Given the description of an element on the screen output the (x, y) to click on. 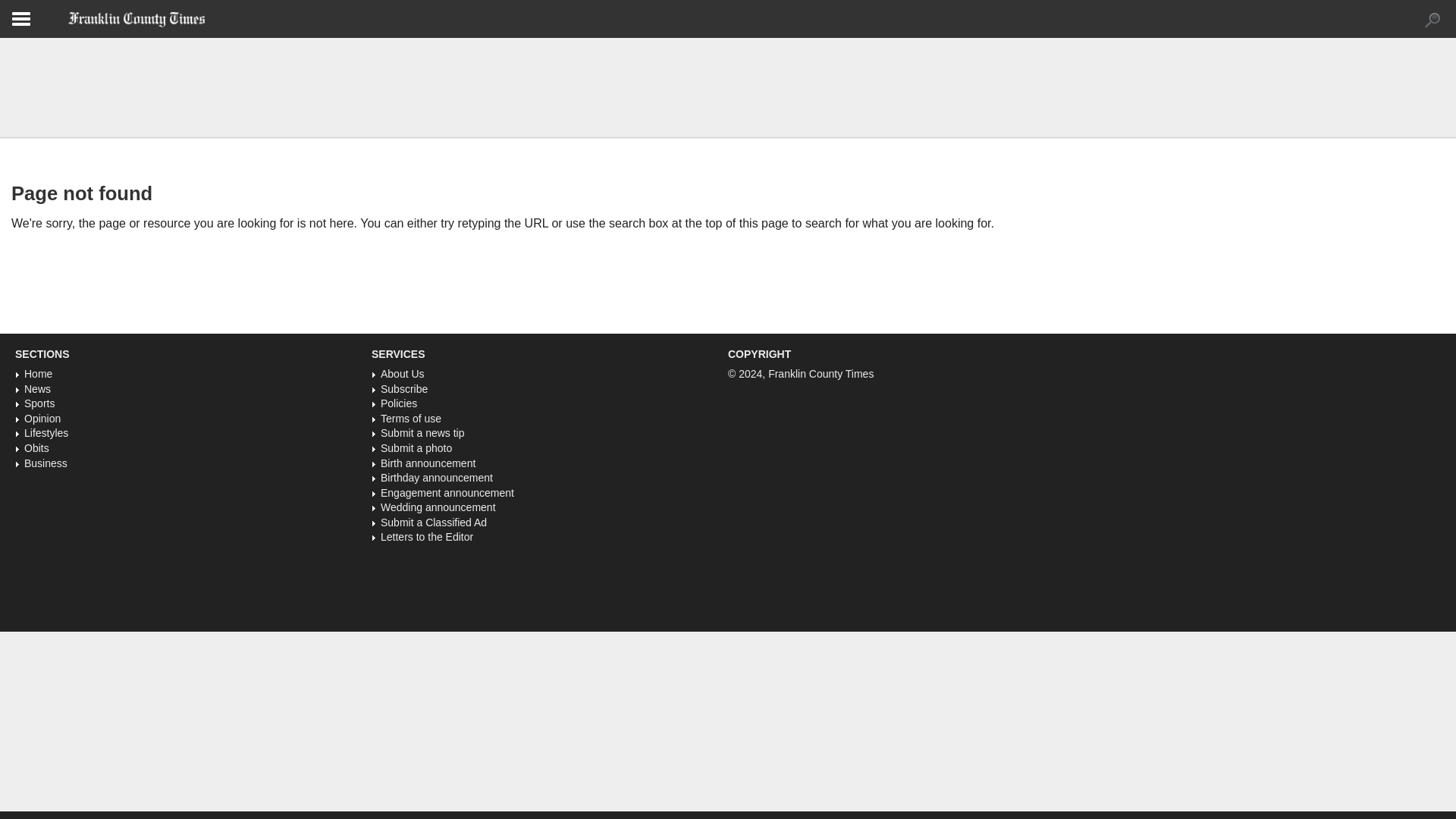
Opinion (42, 418)
Obits (36, 448)
expand (1432, 20)
Business (45, 462)
Home (38, 373)
Lifestyles (46, 432)
Sports (39, 403)
News (37, 388)
